Given the description of an element on the screen output the (x, y) to click on. 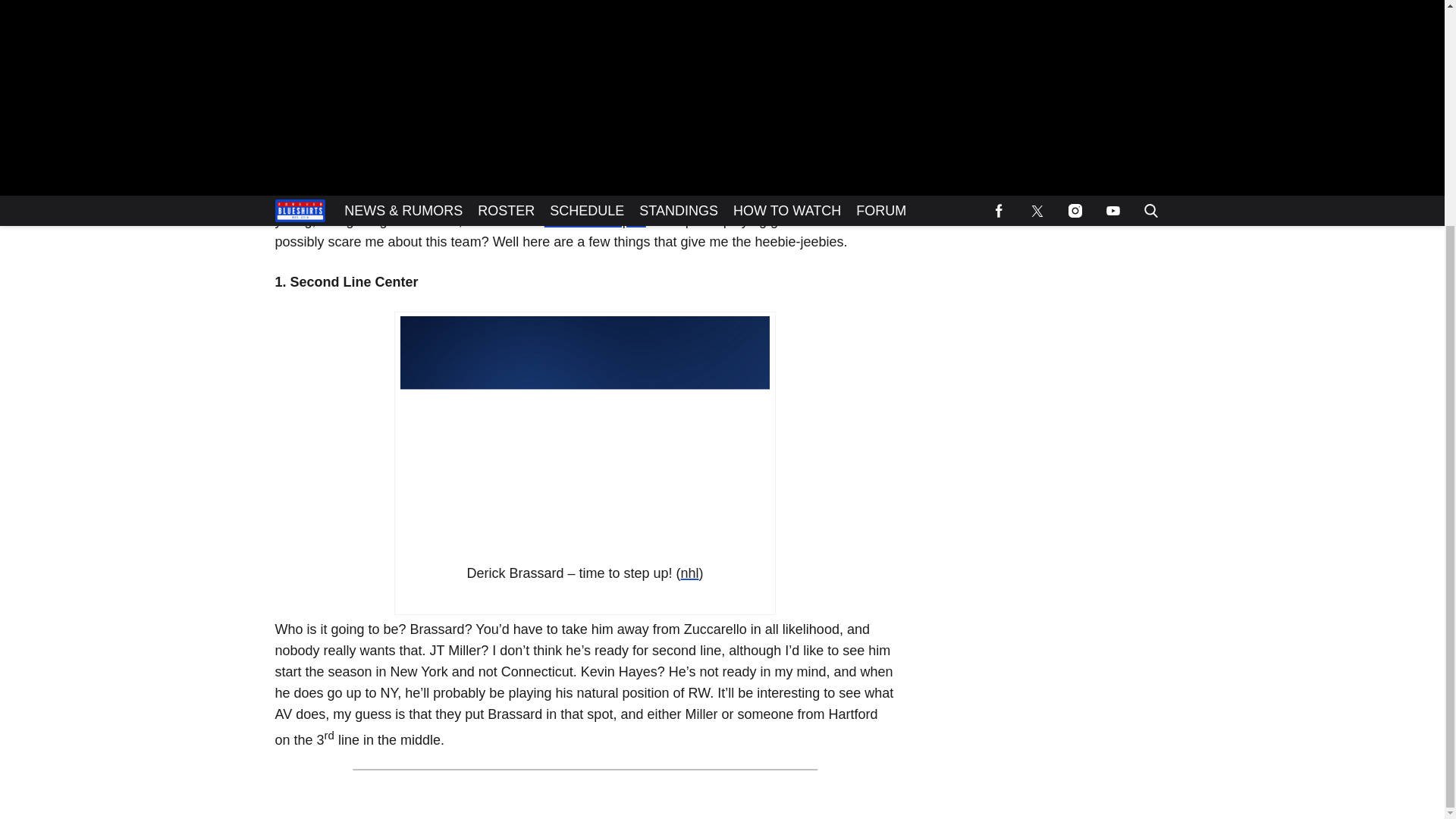
nhl (689, 572)
Matt Alber (328, 52)
nhl (689, 572)
Henrik Lundqvist (595, 219)
Henrik Lundqvist (595, 219)
Posts by Matt Alber (328, 52)
